Given the description of an element on the screen output the (x, y) to click on. 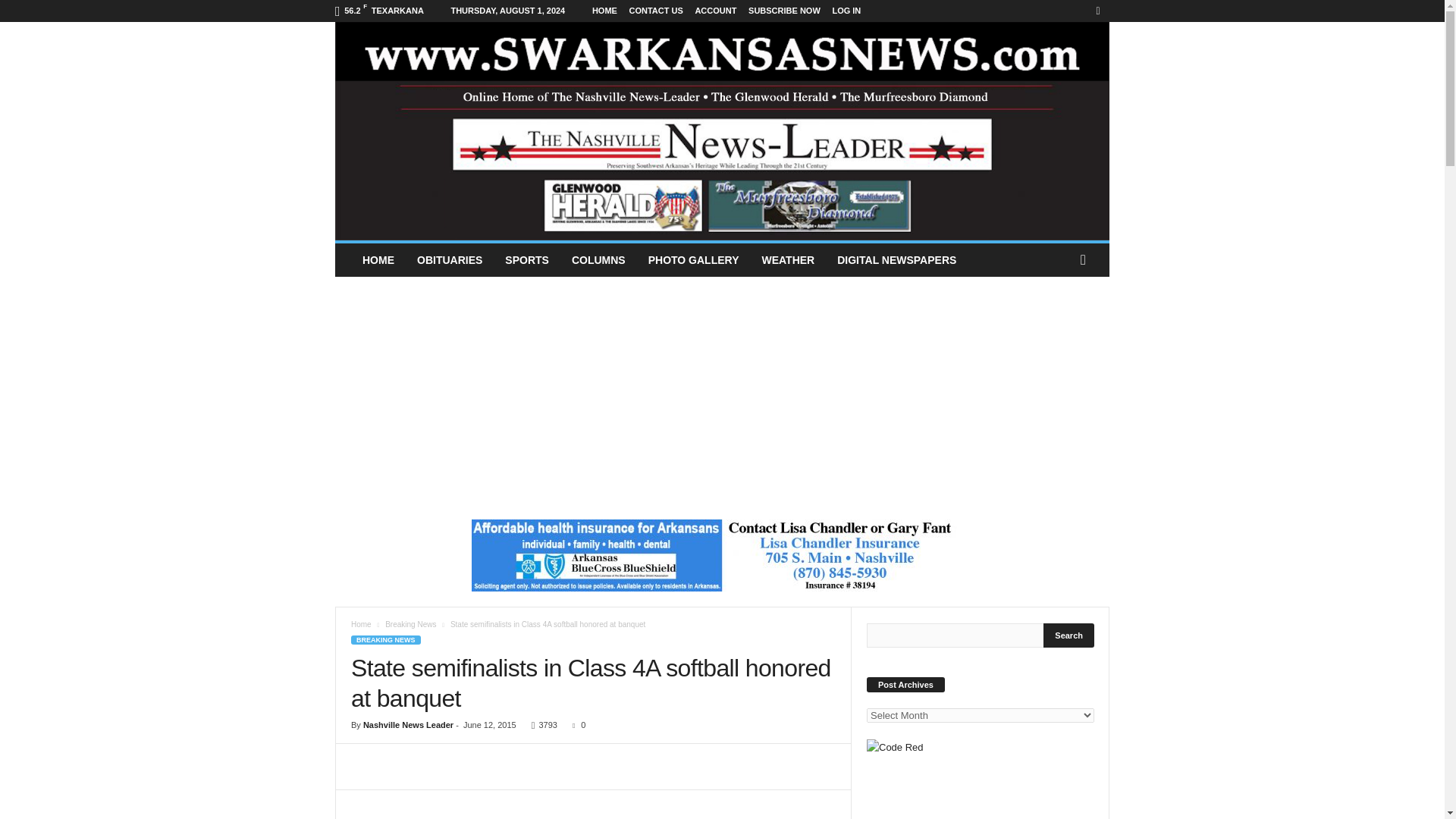
HOME (378, 260)
Search (1068, 680)
CONTACT US (639, 10)
SUBSCRIBE NOW (775, 10)
OBITUARIES (449, 260)
View all posts in Breaking News (410, 669)
ACCOUNT (703, 10)
HOME (589, 10)
LOG IN (837, 10)
